Given the description of an element on the screen output the (x, y) to click on. 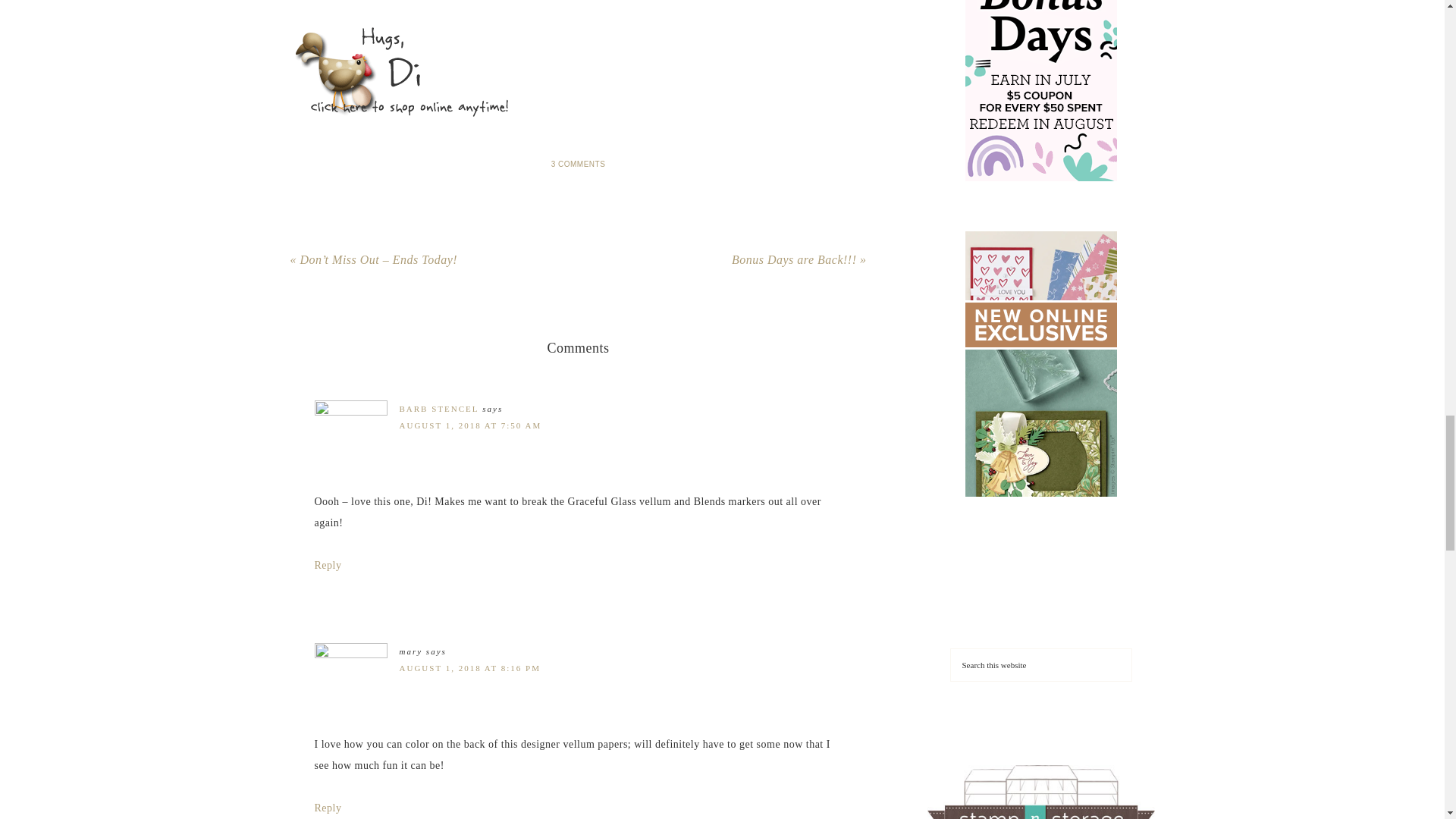
3 COMMENTS (578, 163)
AUGUST 1, 2018 AT 7:50 AM (469, 424)
Reply (327, 564)
Reply (327, 808)
AUGUST 1, 2018 AT 8:16 PM (469, 667)
BARB STENCEL (438, 408)
